Given the description of an element on the screen output the (x, y) to click on. 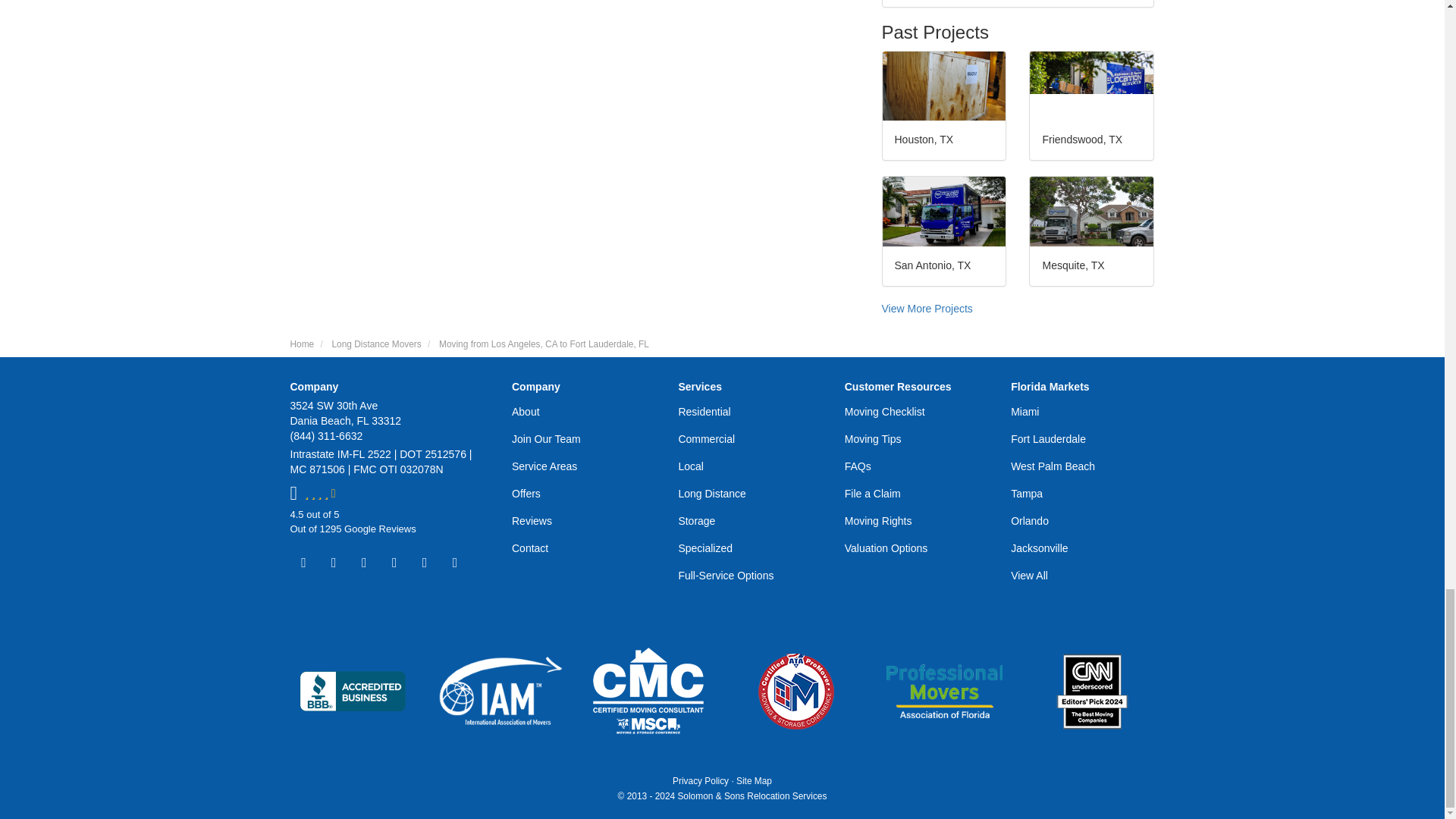
Friendswood, TX Long Distance Move Project (1091, 86)
San Antonio, TX Long Distance Move Project (944, 211)
Mesquite, TX Long Distance Move Project (1091, 211)
Houston, TX Long Distance Move Project (944, 86)
